Given the description of an element on the screen output the (x, y) to click on. 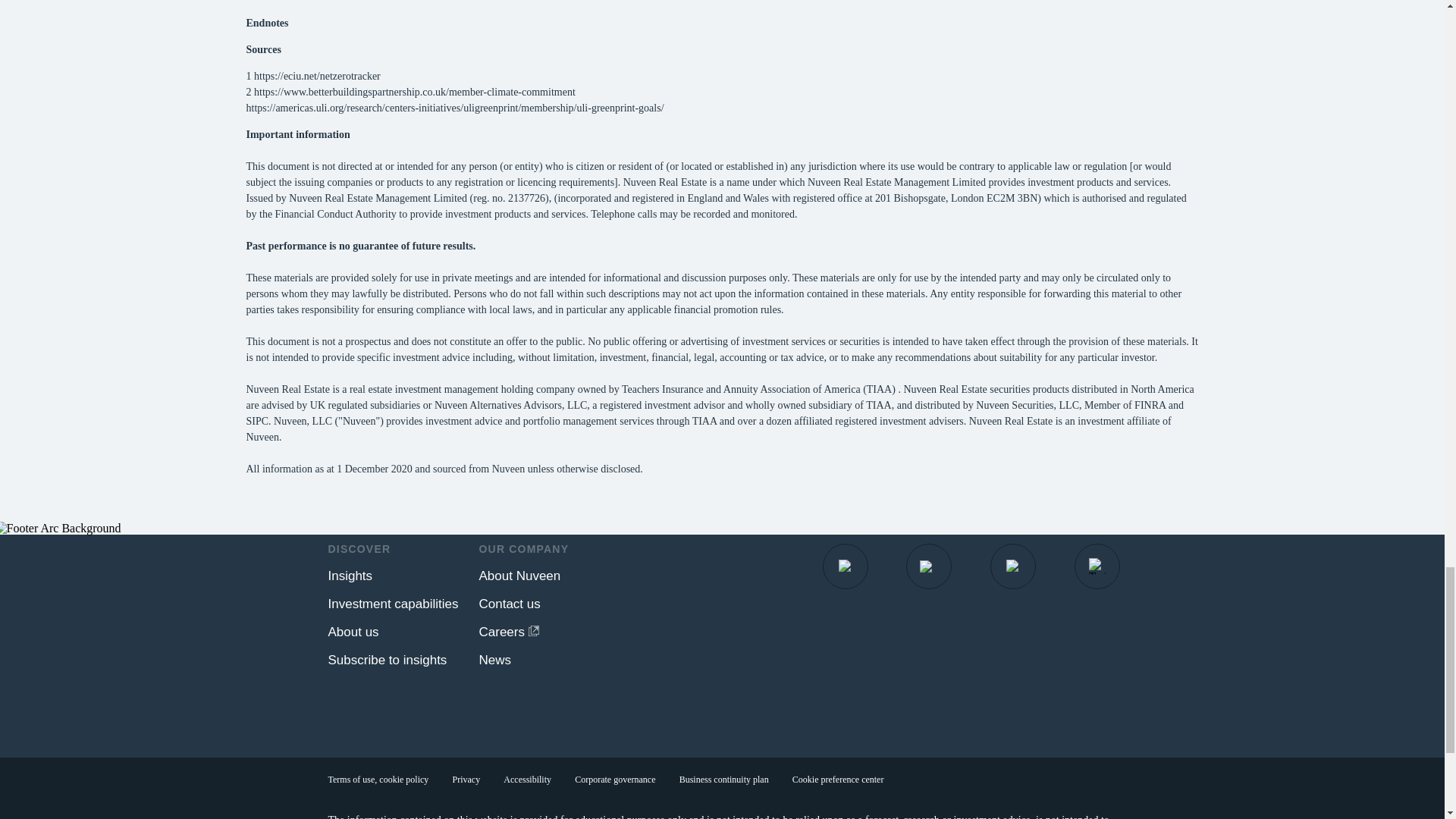
opens in a new window (508, 631)
opens in a new window (1013, 566)
opens in a new window (1097, 566)
opens in a new window (845, 566)
opens in a new window (928, 566)
